Given the description of an element on the screen output the (x, y) to click on. 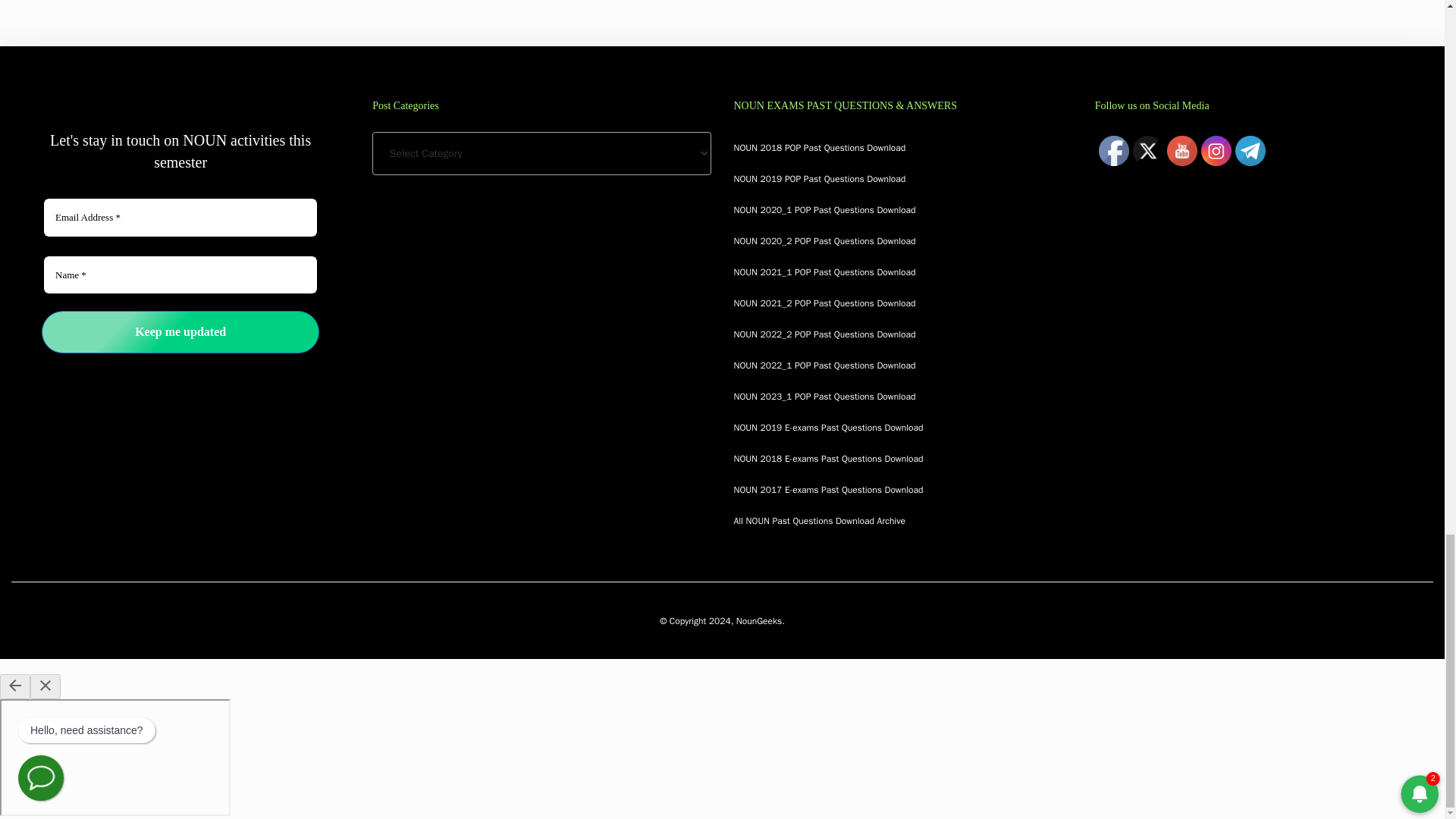
Email Address (180, 217)
Facebook (1114, 150)
Keep me updated (180, 331)
Name (180, 274)
Instagram (1216, 150)
YouTube (1181, 150)
